Given the description of an element on the screen output the (x, y) to click on. 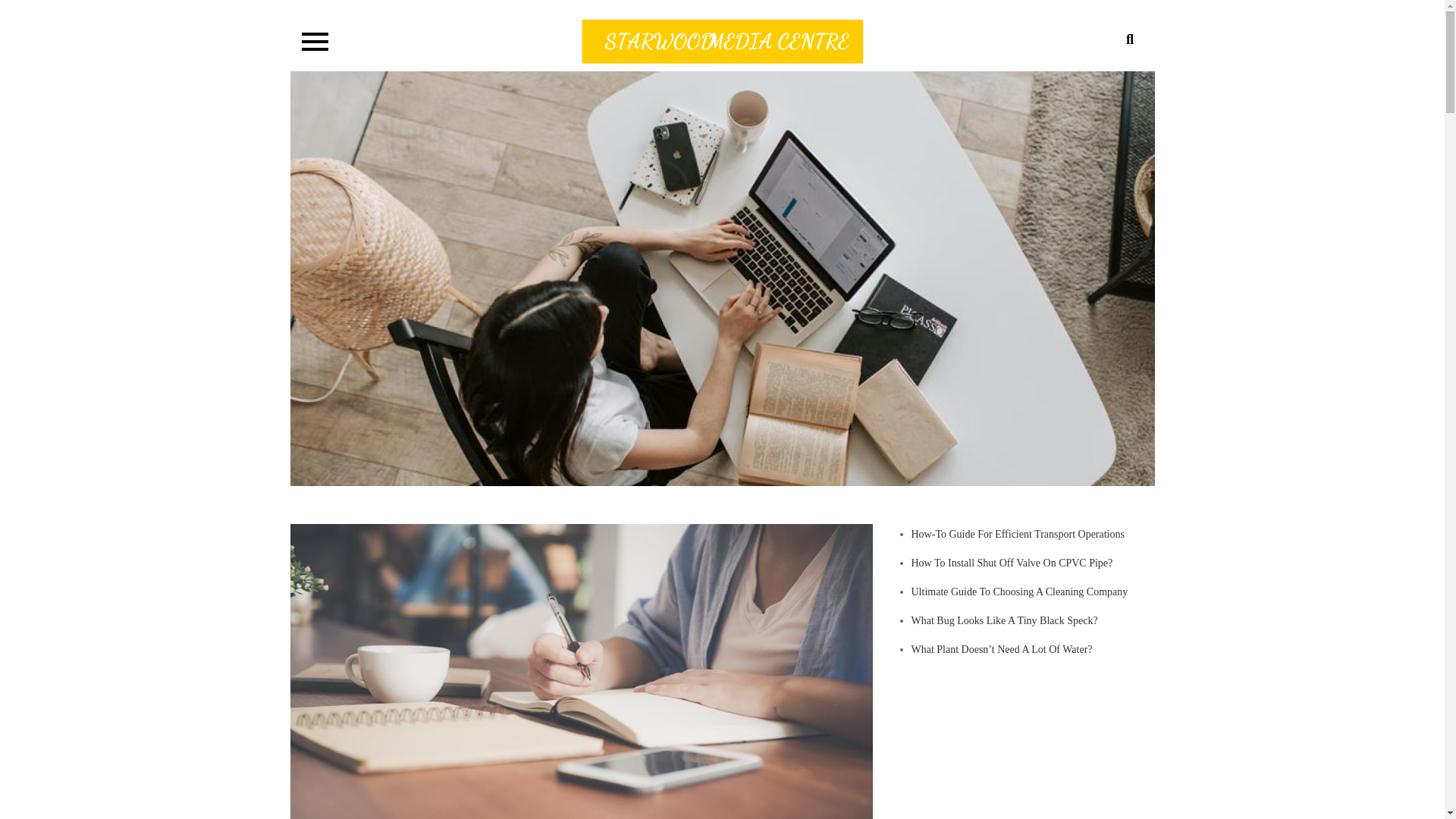
How-To Guide For Efficient Transport Operations (1017, 533)
How To Install Shut Off Valve On CPVC Pipe? (1012, 562)
What Bug Looks Like A Tiny Black Speck? (1004, 620)
Ultimate Guide To Choosing A Cleaning Company (1019, 591)
